Given the description of an element on the screen output the (x, y) to click on. 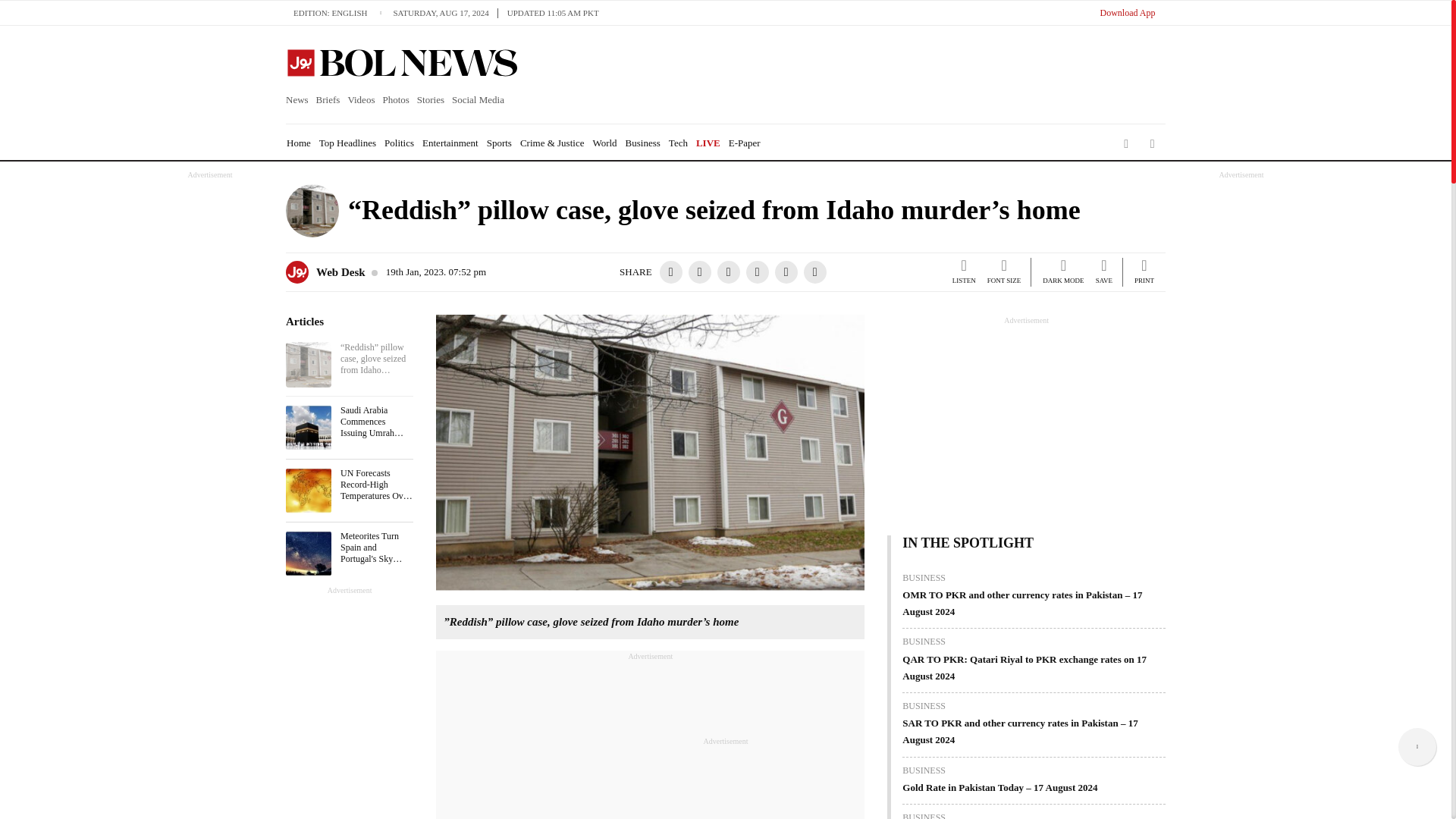
Videos (360, 99)
SATURDAY, AUG 17, 2024 (445, 12)
News (299, 99)
Entertainment (450, 143)
Top Headlines (346, 143)
Stories (430, 99)
UPDATED 11:05 AM PKT (552, 12)
Social Media (478, 99)
Photos (395, 99)
Briefs (328, 99)
